Given the description of an element on the screen output the (x, y) to click on. 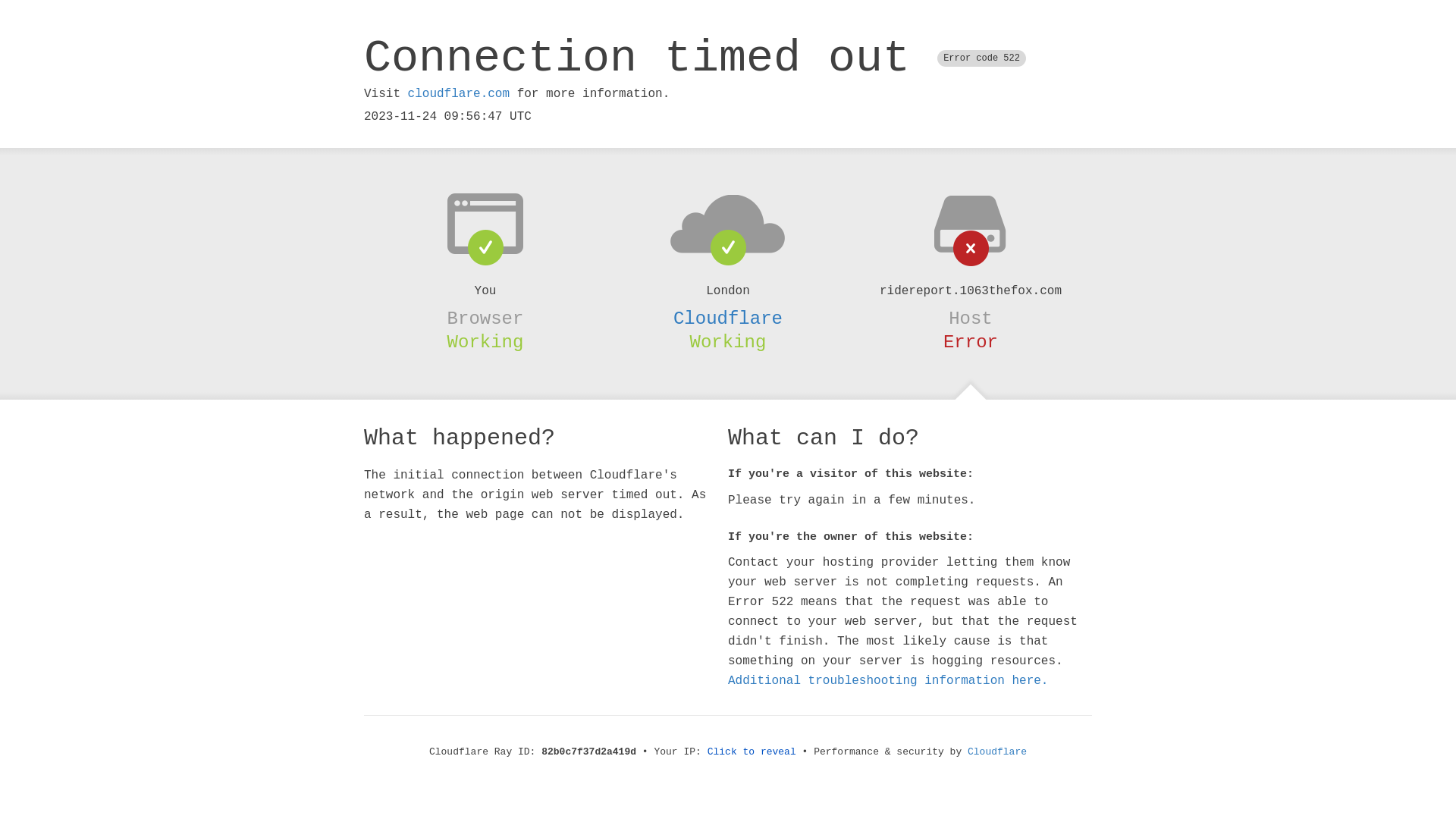
Cloudflare Element type: text (996, 751)
cloudflare.com Element type: text (458, 93)
Cloudflare Element type: text (727, 318)
Click to reveal Element type: text (751, 751)
Additional troubleshooting information here. Element type: text (888, 680)
